Given the description of an element on the screen output the (x, y) to click on. 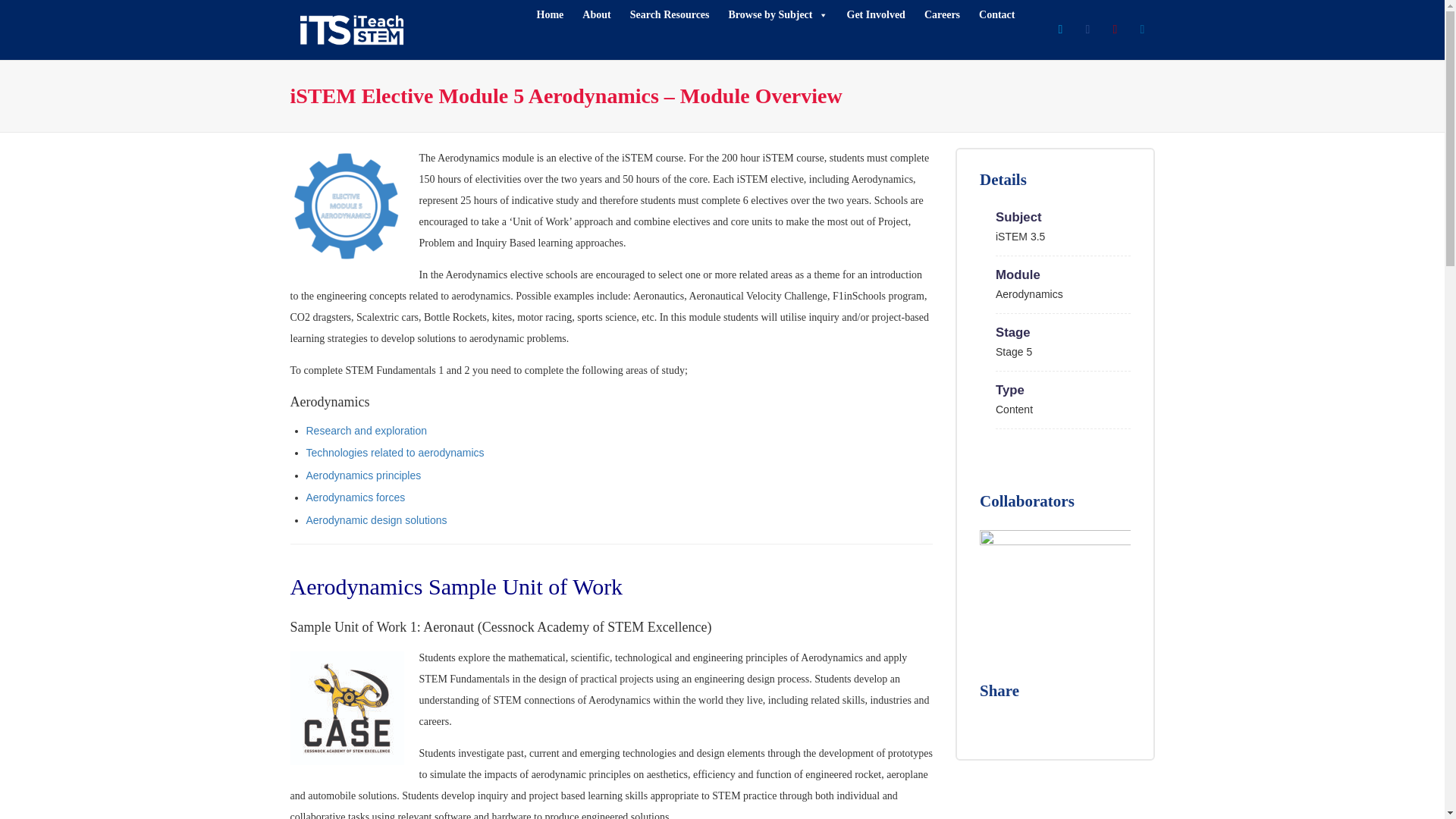
Contact (996, 15)
Careers (942, 15)
Research and exploration (366, 430)
Technologies related to aerodynamics (394, 452)
Home (550, 15)
Browse by Subject (777, 15)
Get Involved (875, 15)
About (596, 15)
Search Resources (670, 15)
Aerodynamics principles (363, 475)
